Given the description of an element on the screen output the (x, y) to click on. 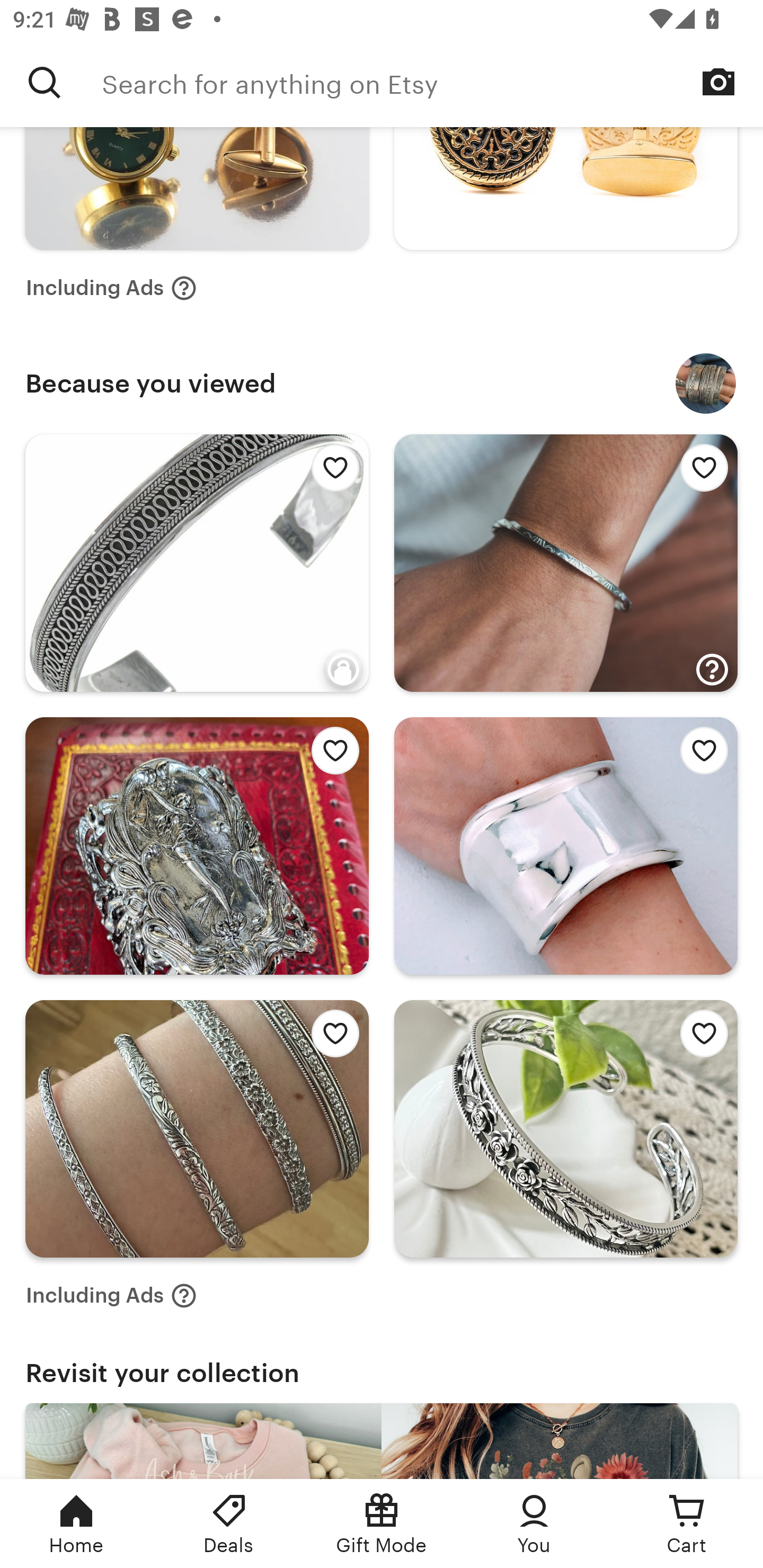
Search for anything on Etsy (44, 82)
Search by image (718, 81)
Search for anything on Etsy (432, 82)
Including Ads (111, 287)
Including Ads (111, 1295)
Deals (228, 1523)
Gift Mode (381, 1523)
You (533, 1523)
Cart (686, 1523)
